Given the description of an element on the screen output the (x, y) to click on. 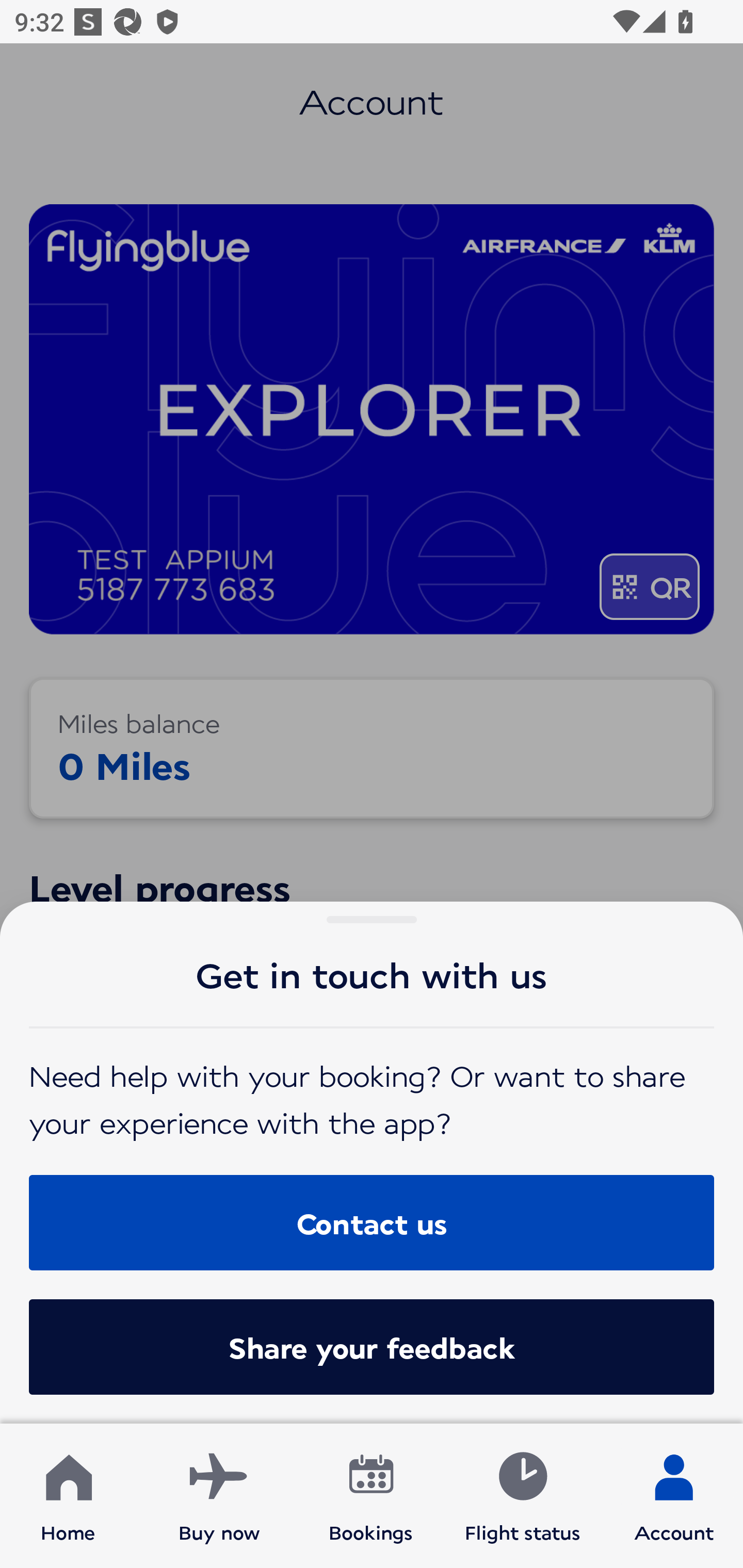
Contact us (371, 1222)
Share your feedback (371, 1346)
Home (68, 1495)
Buy now (219, 1495)
Bookings (370, 1495)
Flight status (522, 1495)
